Given the description of an element on the screen output the (x, y) to click on. 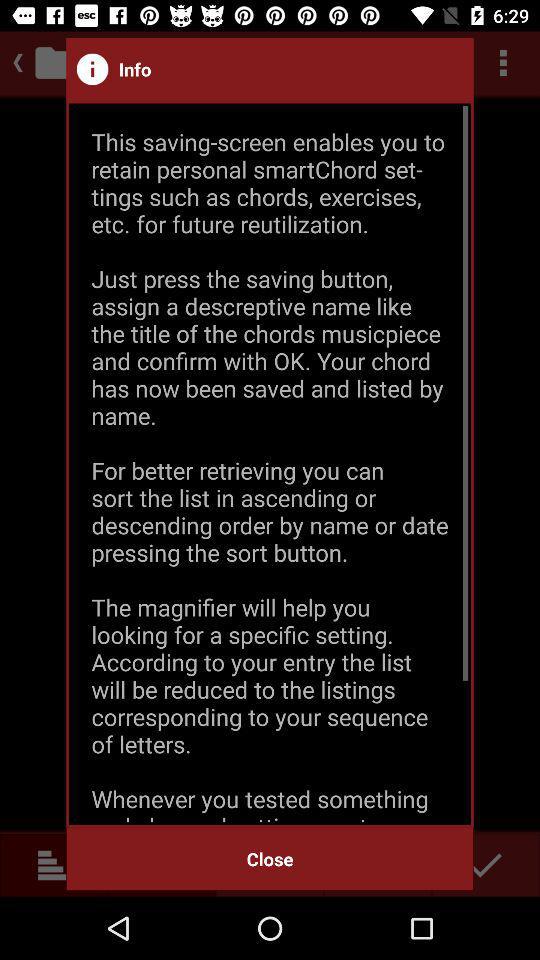
turn on the icon at the center (269, 464)
